Given the description of an element on the screen output the (x, y) to click on. 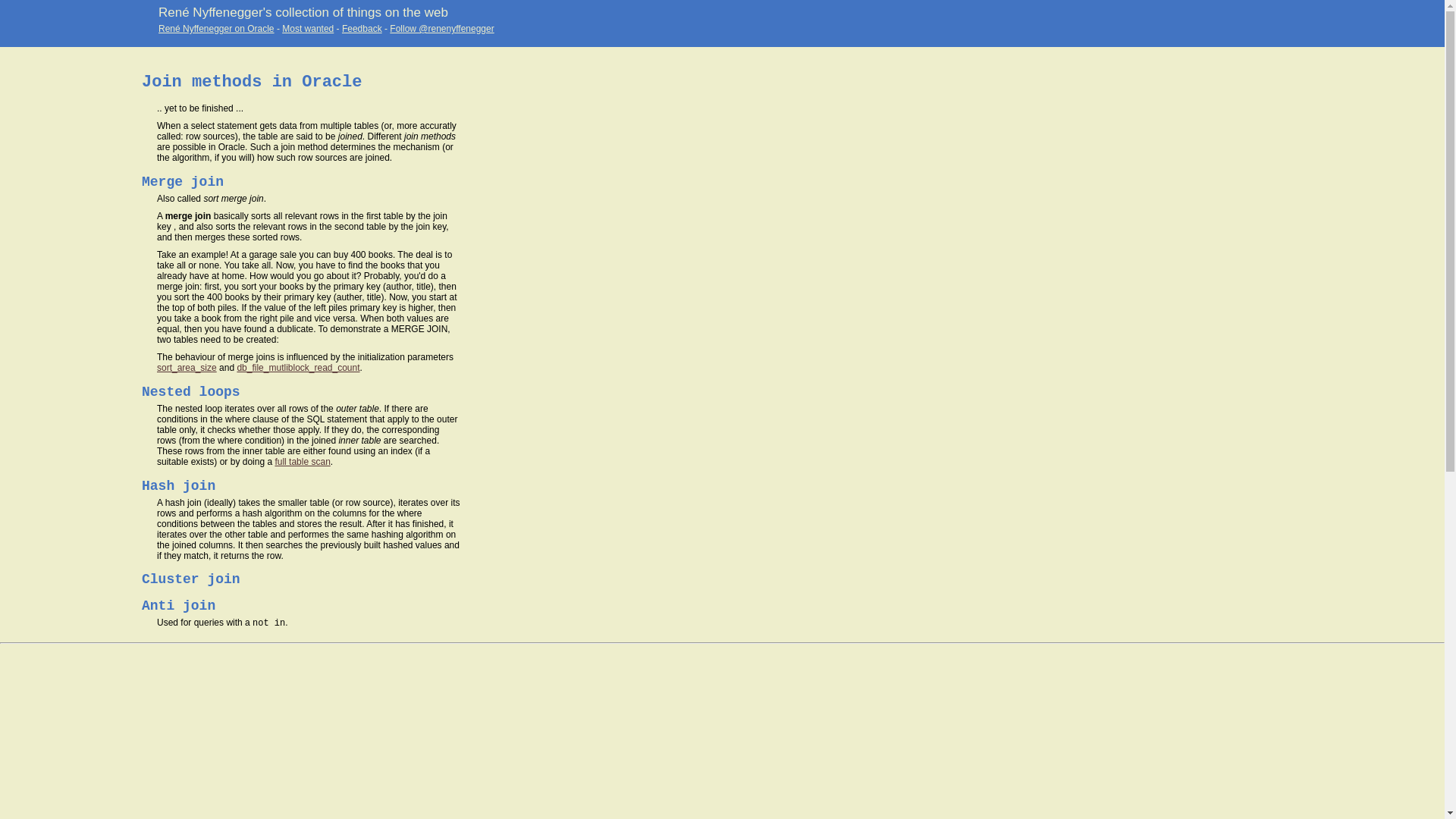
Follow @renenyffenegger Element type: text (441, 28)
full table scan Element type: text (301, 461)
sort_area_size Element type: text (186, 367)
db_file_mutliblock_read_count Element type: text (297, 367)
Advertisement Element type: hover (60, 330)
Most wanted Element type: text (307, 28)
Feedback Element type: text (362, 28)
